Given the description of an element on the screen output the (x, y) to click on. 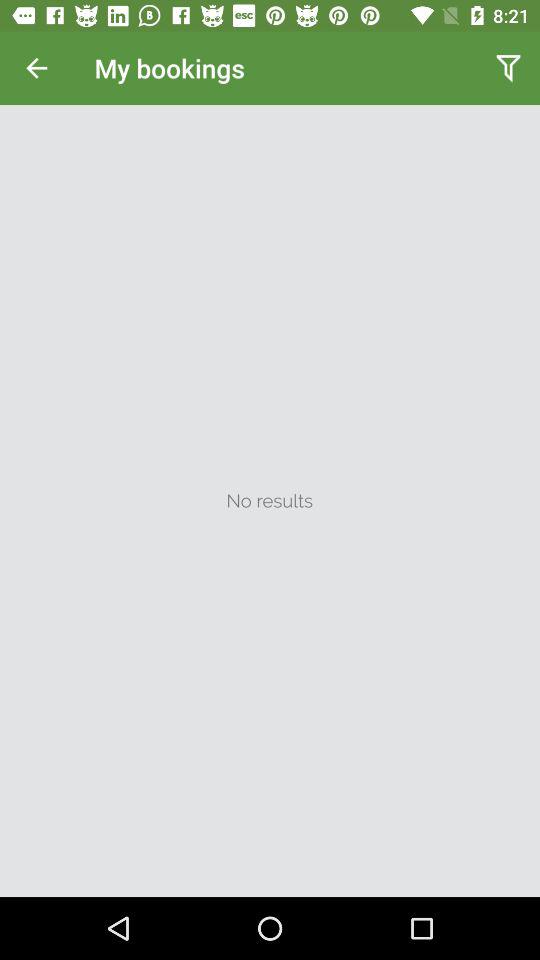
tap app next to my bookings item (508, 67)
